Given the description of an element on the screen output the (x, y) to click on. 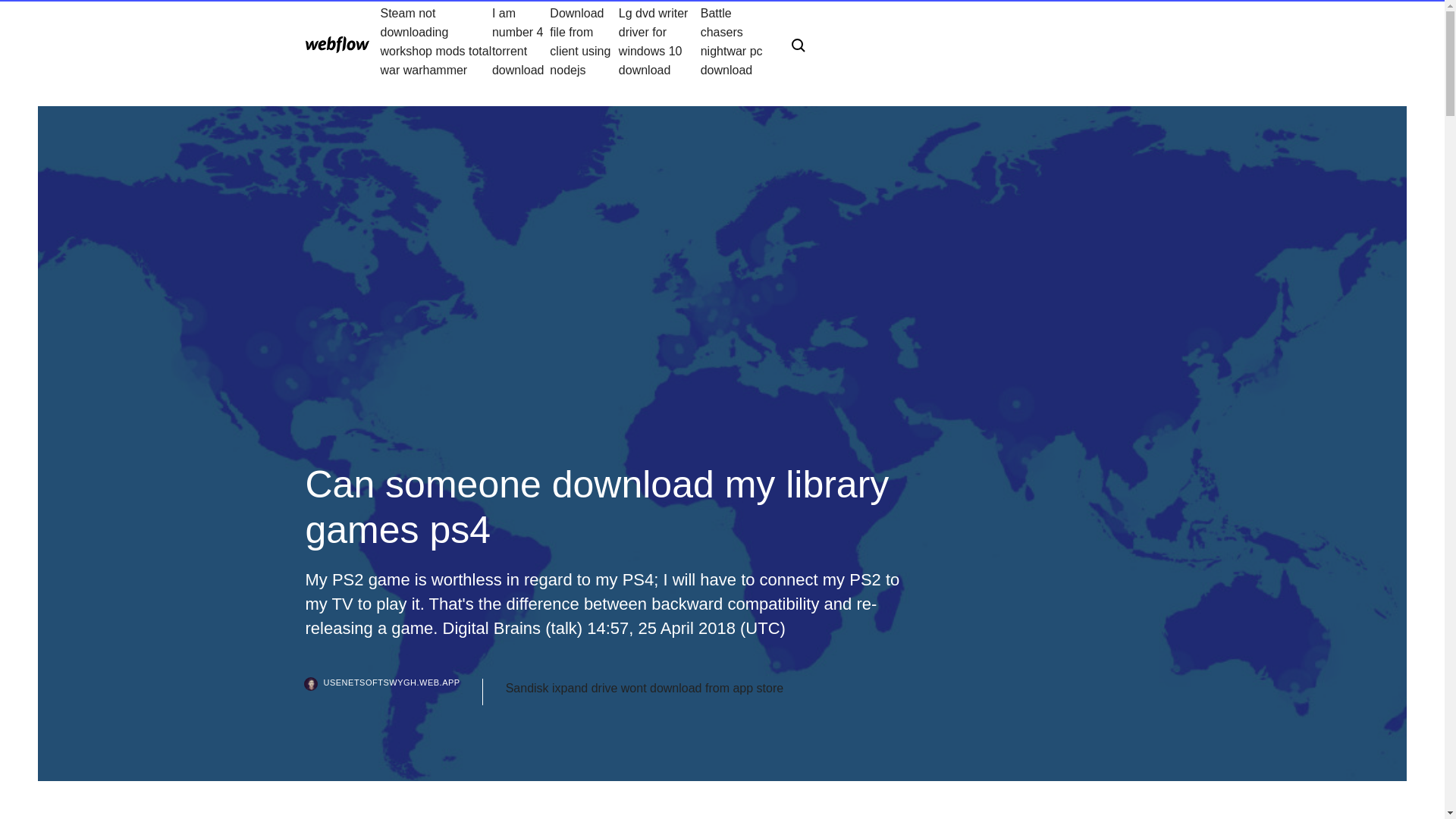
Steam not downloading workshop mods total war warhammer (436, 41)
USENETSOFTSWYGH.WEB.APP (392, 691)
Sandisk ixpand drive wont download from app store (644, 687)
Lg dvd writer driver for windows 10 download (659, 41)
Download file from client using nodejs (584, 41)
